Given the description of an element on the screen output the (x, y) to click on. 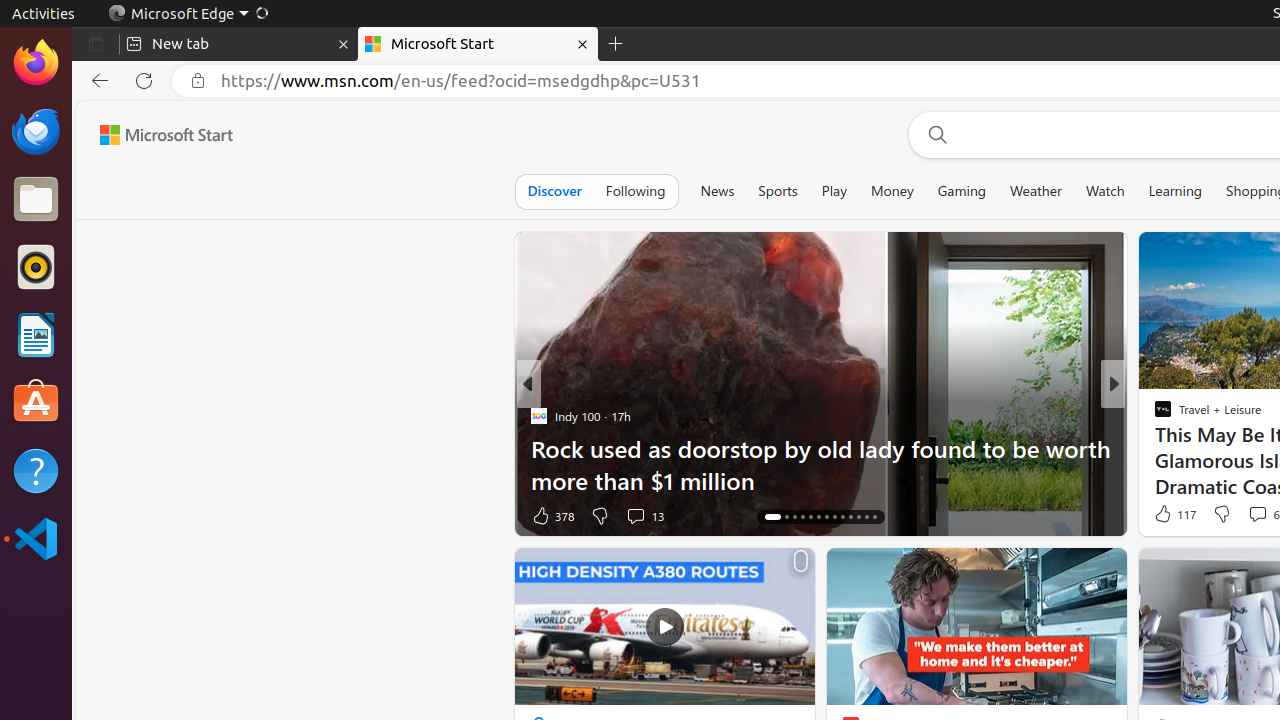
137 Like Element type: toggle-button (1168, 515)
View comments 46 Comment Element type: push-button (1251, 515)
View comments 6 Comment Element type: push-button (1257, 513)
4 Like Element type: toggle-button (1161, 515)
View site information Element type: push-button (198, 81)
